Given the description of an element on the screen output the (x, y) to click on. 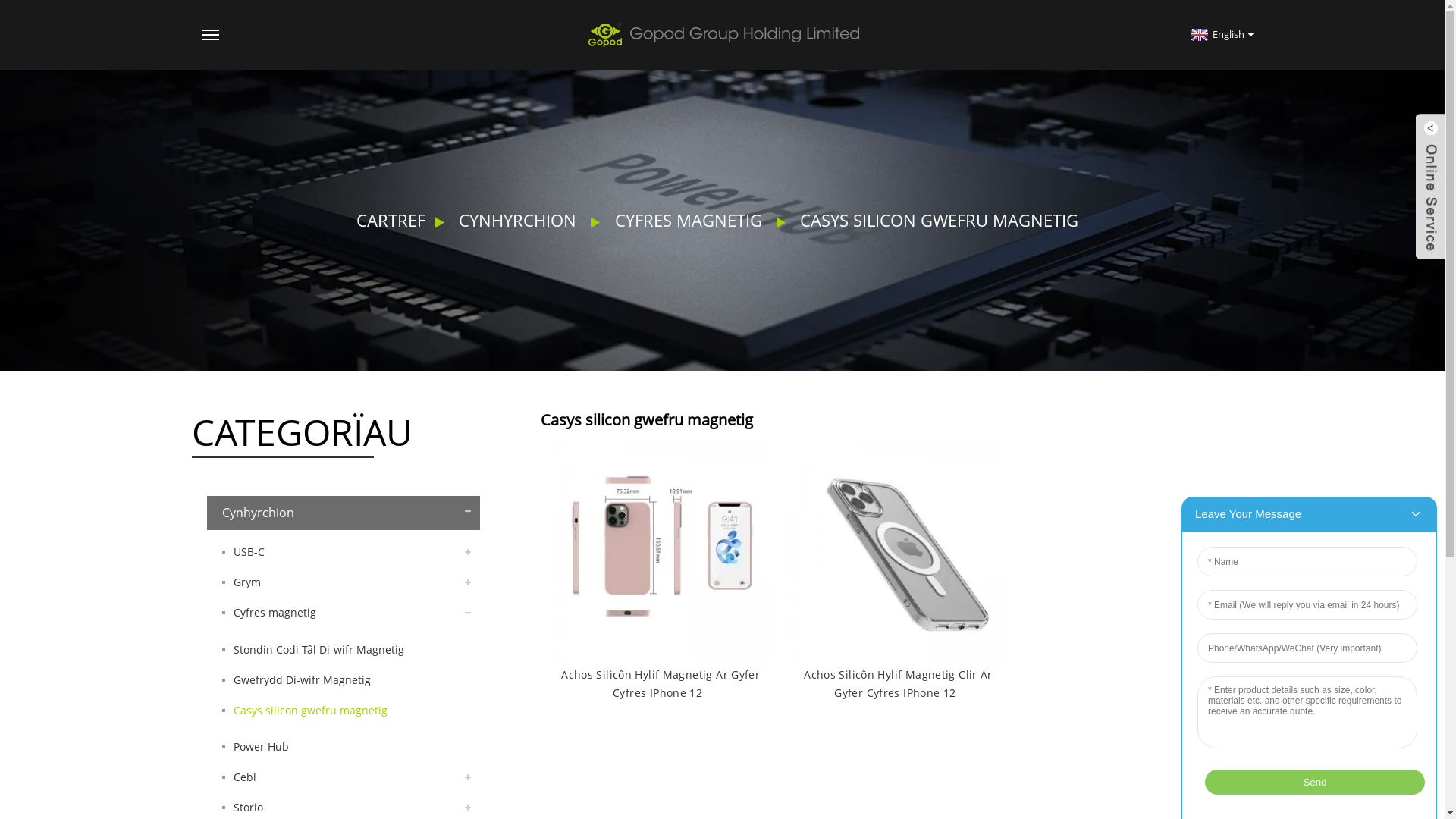
Grym Element type: text (342, 582)
Gwefrydd Di-wifr Magnetig Element type: text (342, 680)
Cynhyrchion Element type: text (342, 512)
CYFRES MAGNETIG Element type: text (688, 219)
CYNHYRCHION Element type: text (517, 219)
Power Hub Element type: text (342, 746)
Cyfres magnetig Element type: text (342, 612)
USB-C Element type: text (342, 551)
Cebl Element type: text (342, 777)
English Element type: text (1220, 33)
CASYS SILICON GWEFRU MAGNETIG Element type: text (939, 219)
Magnetic Liquid Silicone Case for iPhone 12 series/ Element type: hover (661, 548)
Casys silicon gwefru magnetig Element type: text (342, 710)
Clear Magnetic Liquid Silicone Case for iPhone 12 series/ Element type: hover (899, 548)
CARTREF Element type: text (390, 219)
